Given the description of an element on the screen output the (x, y) to click on. 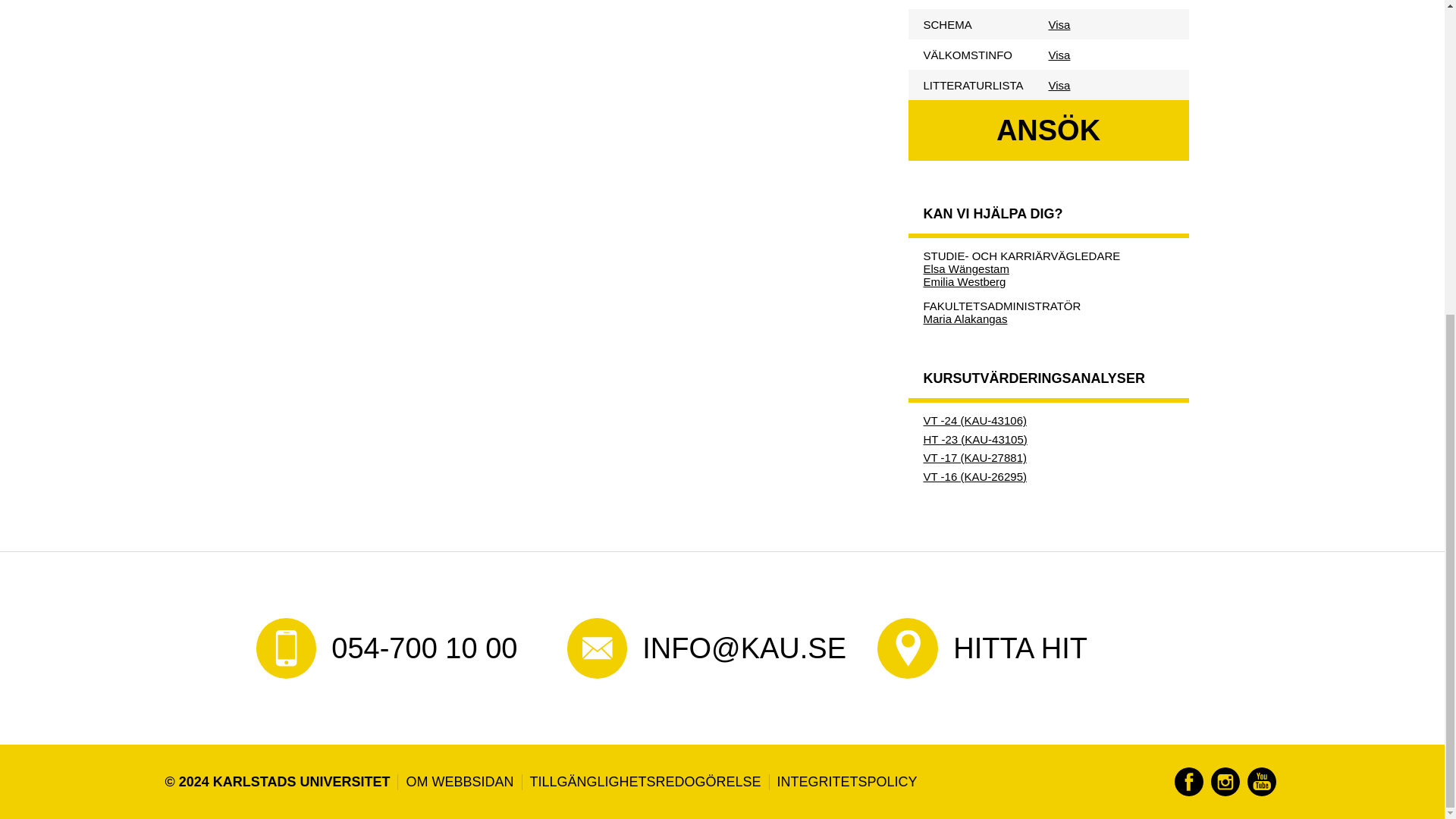
Emilia Westberg (964, 281)
Visa (1059, 53)
Visa (1059, 23)
Maria Alakangas (965, 318)
Visa (1059, 83)
Integritetspolicy (842, 781)
Om webbsidan (455, 781)
